Given the description of an element on the screen output the (x, y) to click on. 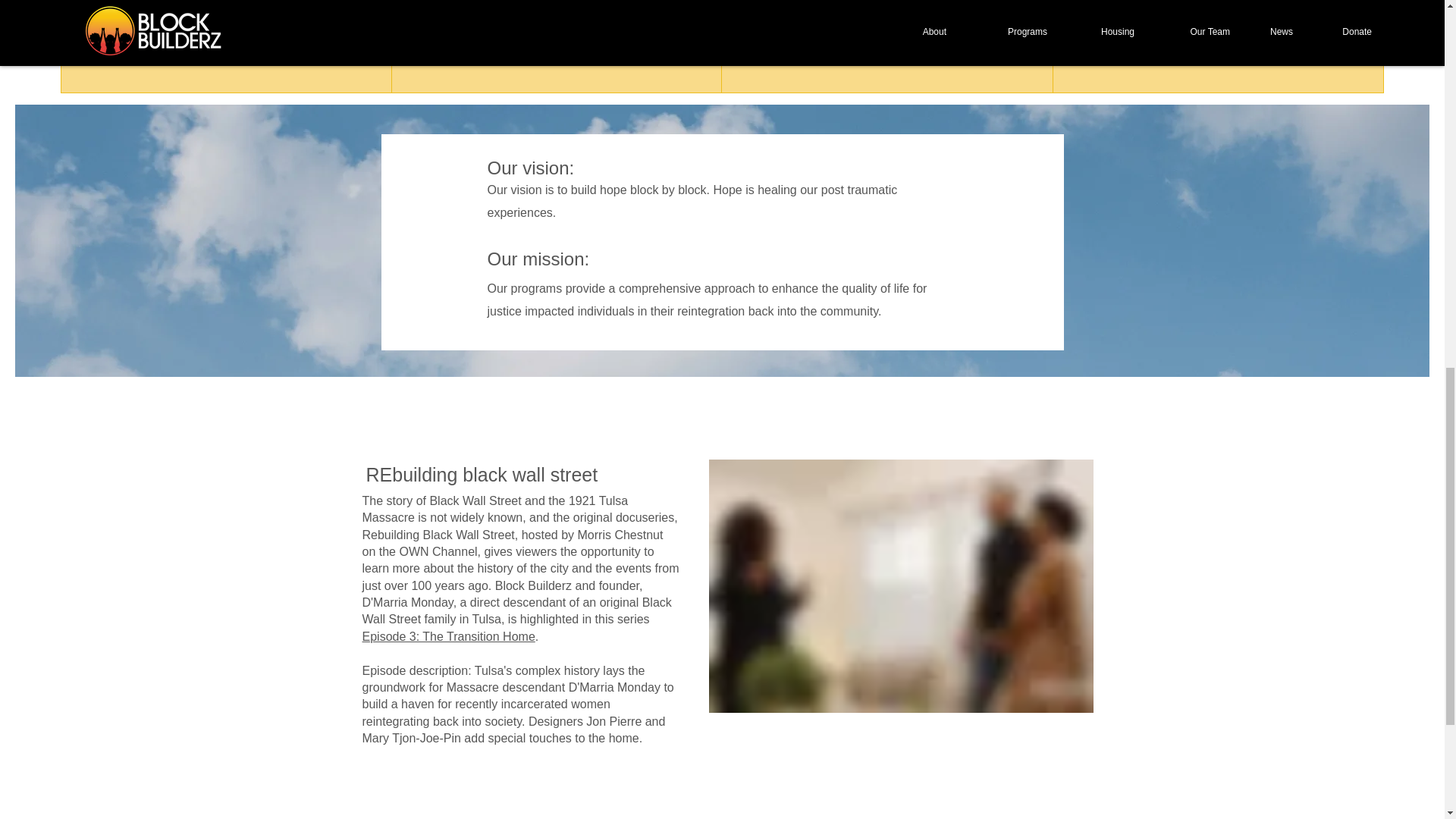
Episode 3: The Transition Home (448, 635)
